Given the description of an element on the screen output the (x, y) to click on. 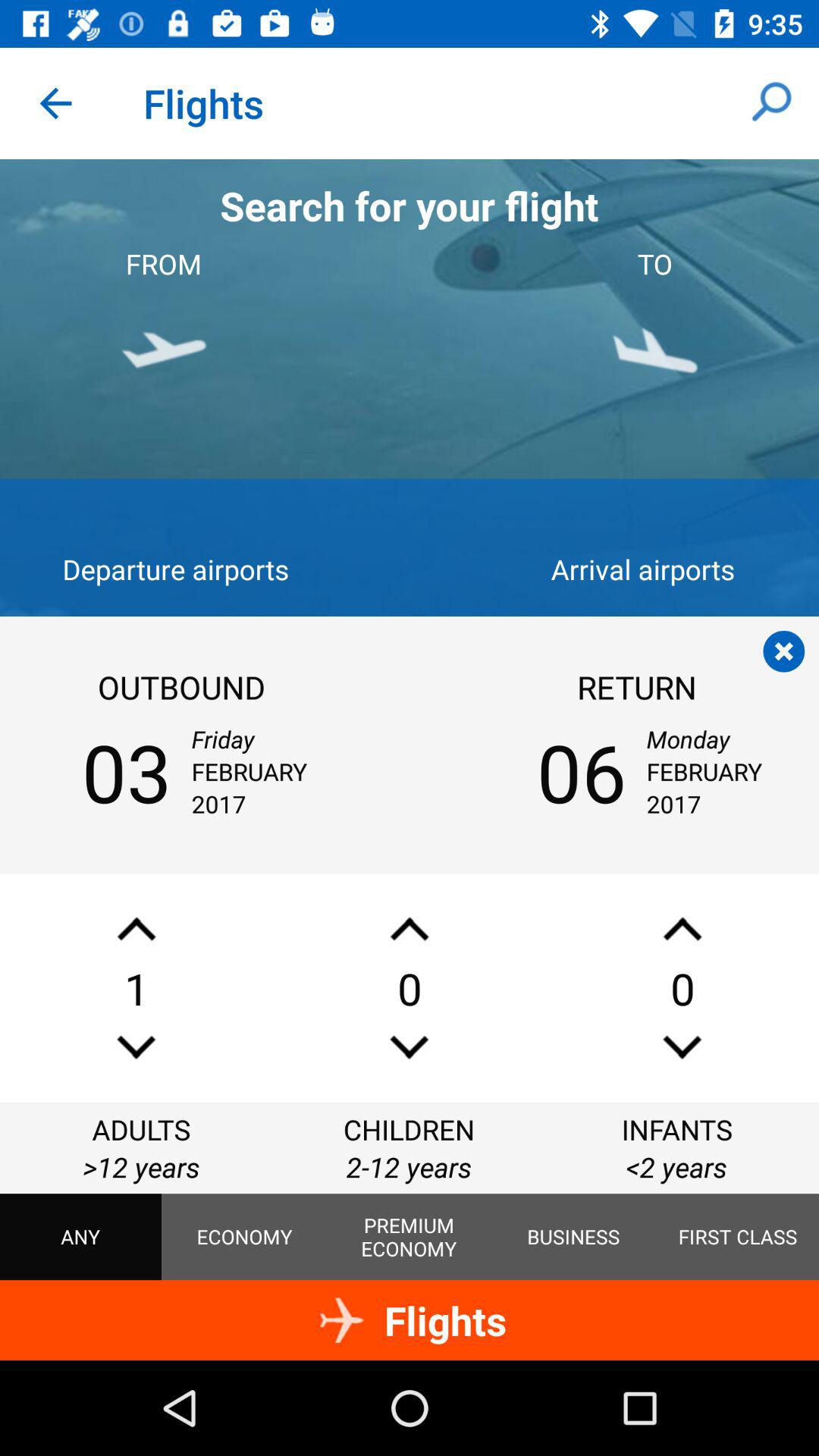
toggle number of adults (136, 928)
